Given the description of an element on the screen output the (x, y) to click on. 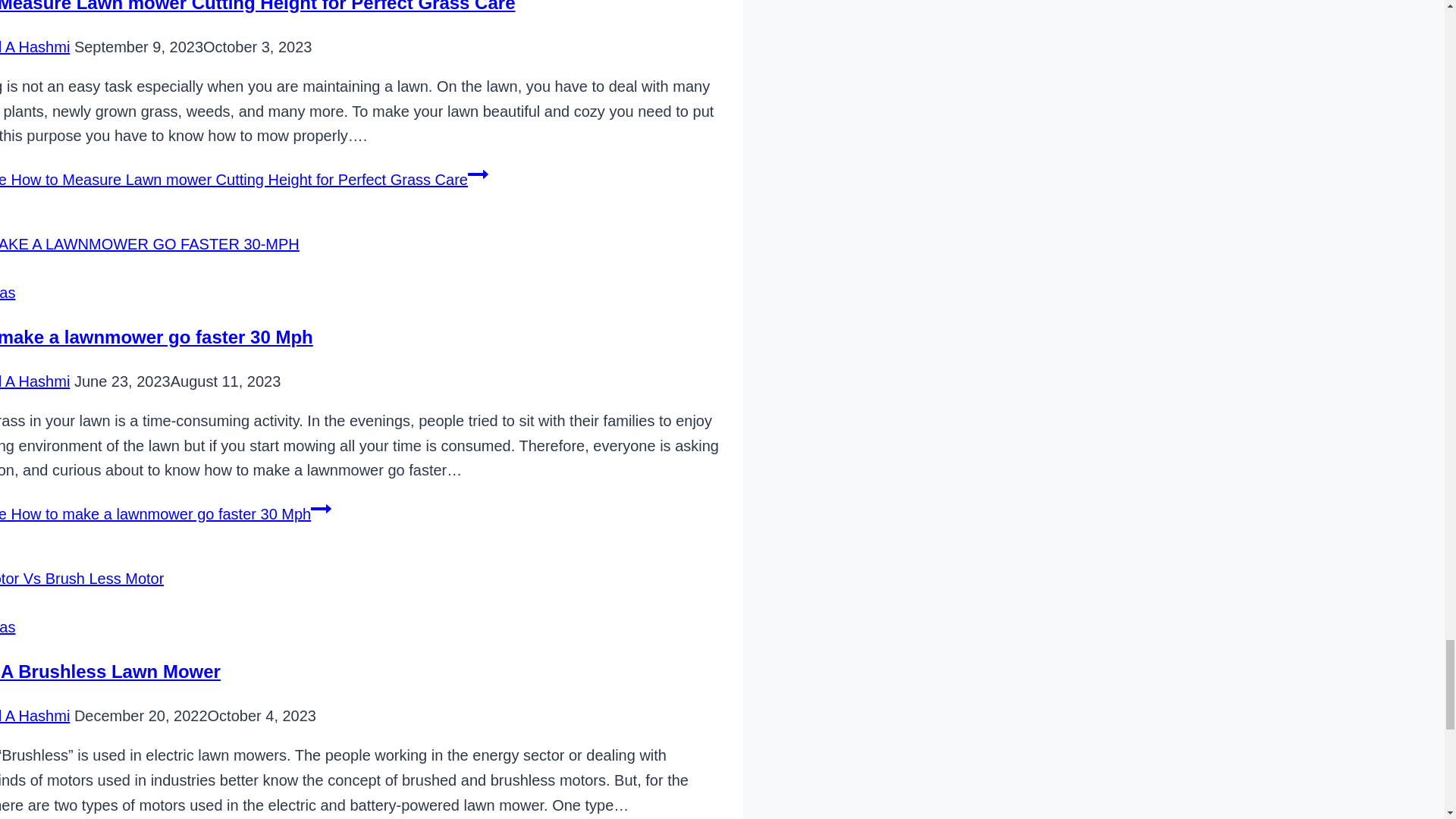
Naveed A Hashmi (34, 46)
Continue (477, 174)
Read More How to make a lawnmower go faster 30 MphContinue (165, 514)
What Is A Brushless Lawn Mower (110, 670)
Naveed A Hashmi (34, 381)
Naveed A Hashmi (34, 715)
How to make a lawnmower go faster 30 Mph (156, 336)
Continue (321, 508)
